Given the description of an element on the screen output the (x, y) to click on. 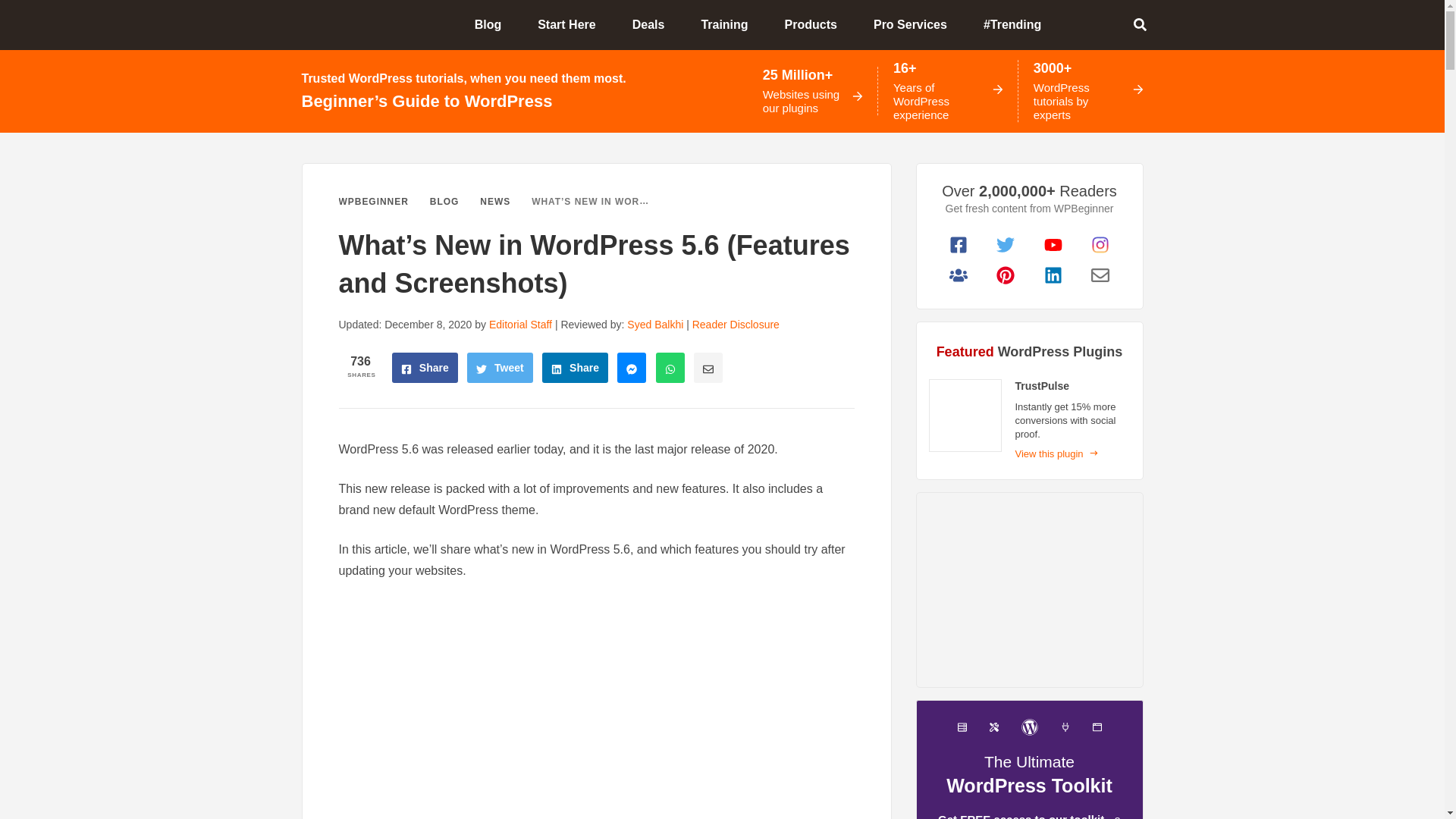
WPBeginner - Beginners Guide for WordPress (353, 24)
Deals (654, 24)
Start Here (572, 24)
WPBeginner - WordPress Tutorials for Beginners (353, 24)
Blog (494, 24)
